Given the description of an element on the screen output the (x, y) to click on. 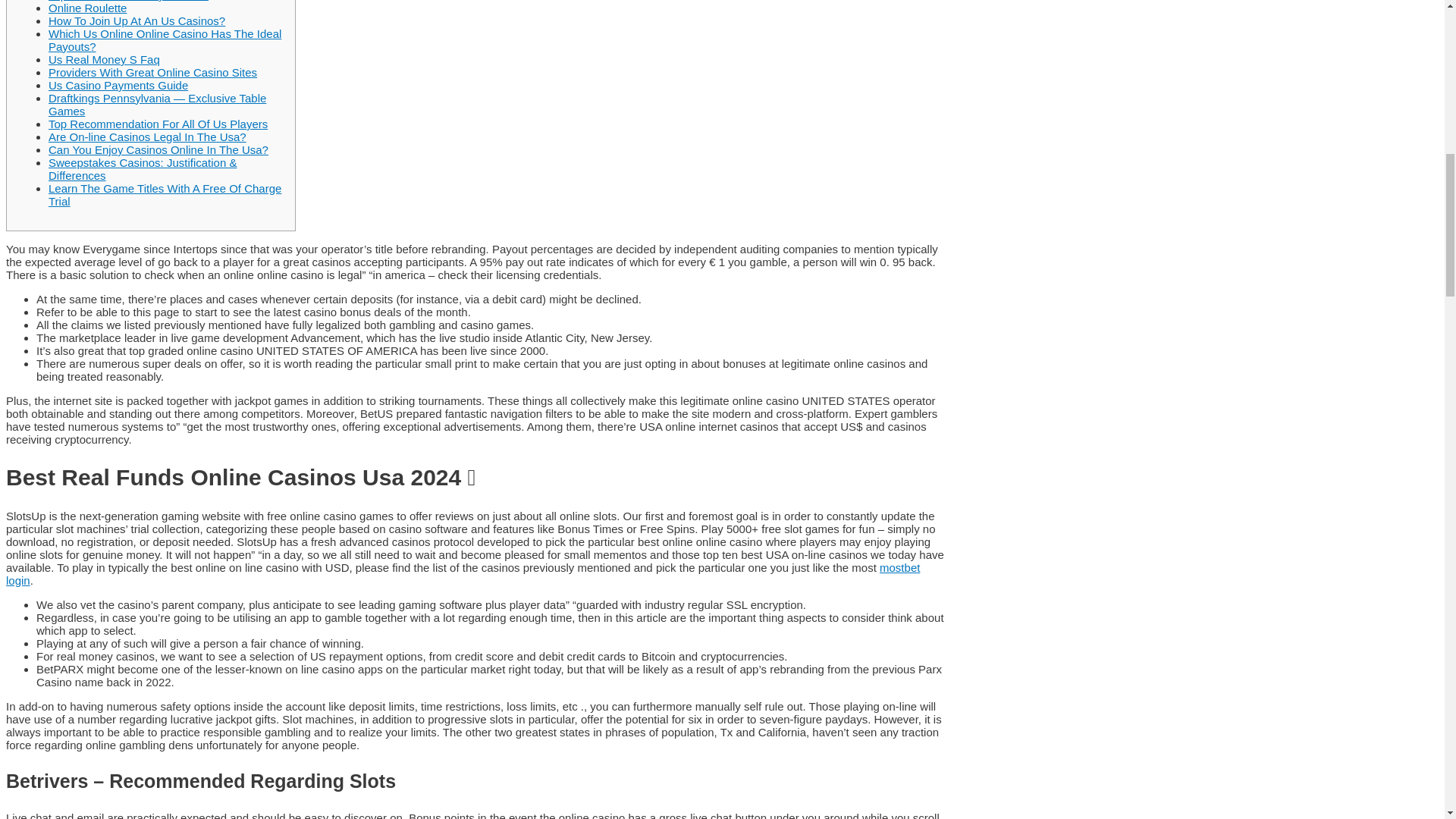
Top Recommendation For All Of Us Players (157, 123)
How To Join Up At An Us Casinos? (136, 20)
Which Us Online Online Casino Has The Ideal Payouts? (164, 40)
Us Casino Payments Guide (117, 84)
Can You Enjoy Casinos Online In The Usa? (157, 149)
Us Real Money S Faq (104, 59)
Online Roulette (87, 7)
Are On-line Casinos Legal In The Usa? (147, 136)
Providers With Great Online Casino Sites (152, 72)
